Given the description of an element on the screen output the (x, y) to click on. 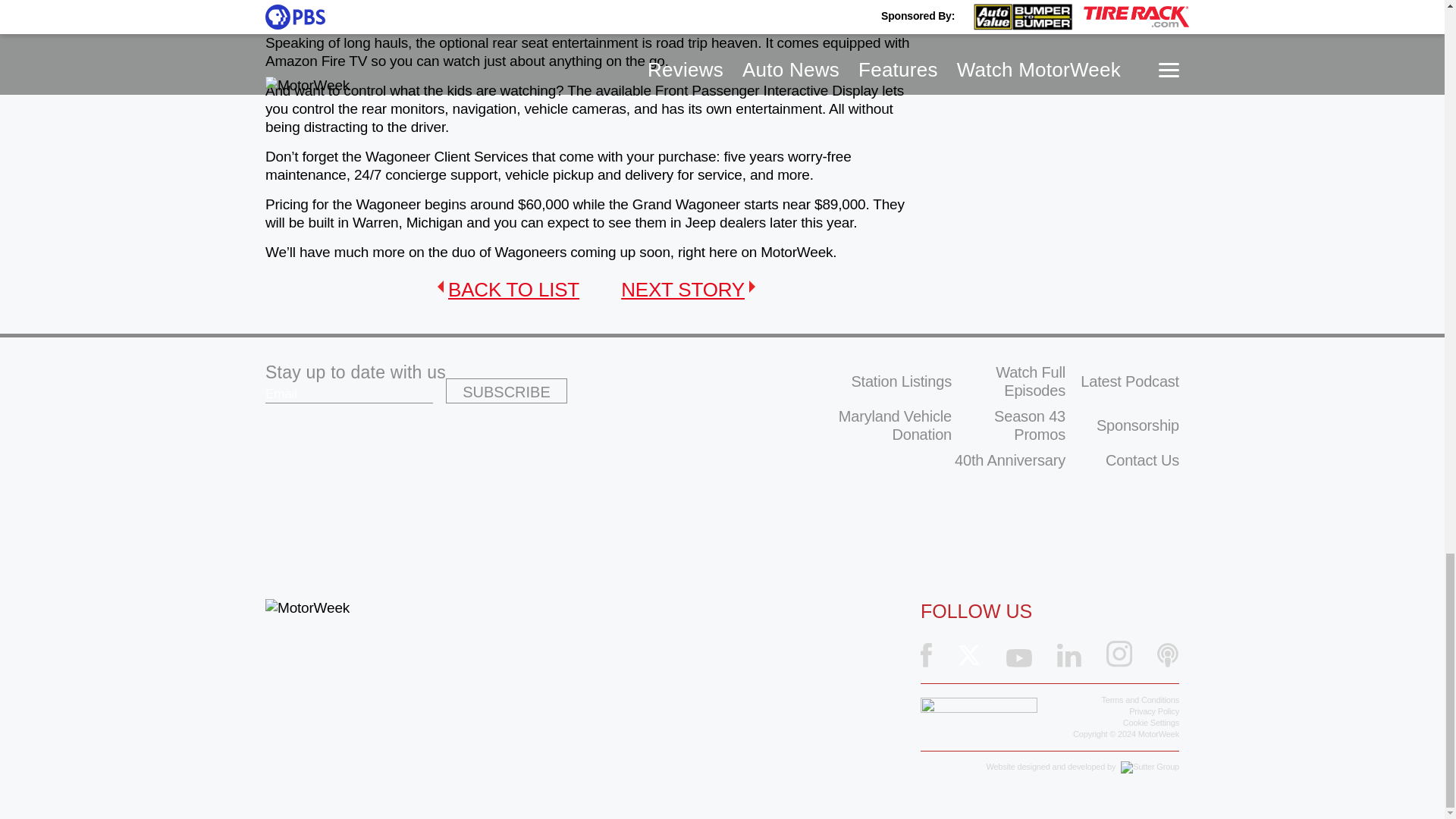
BACK TO LIST (507, 289)
Sutter Group (1150, 767)
Subscribe (506, 390)
MotorWeek (306, 607)
